Given the description of an element on the screen output the (x, y) to click on. 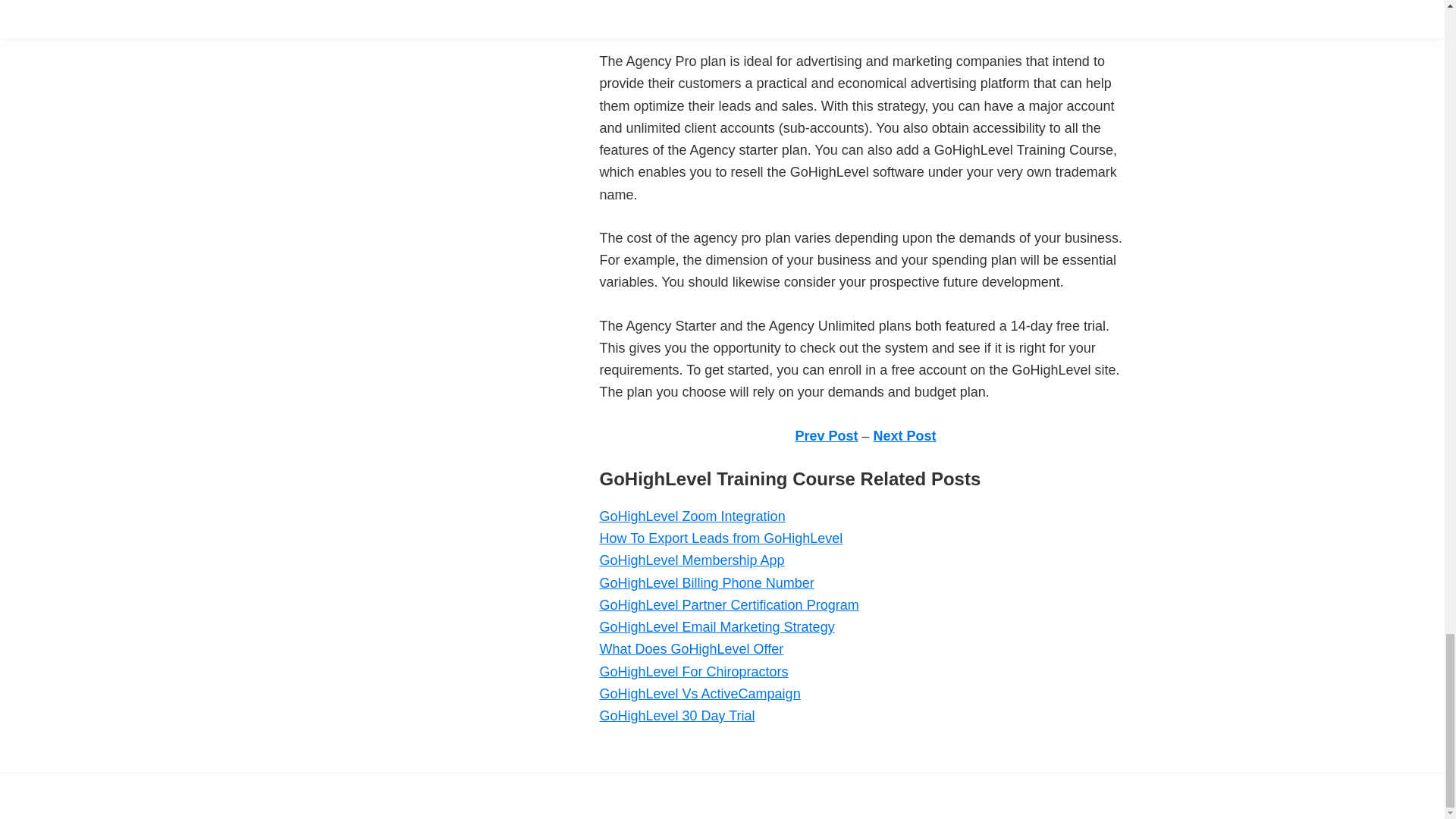
GoHighLevel Partner Certification Program (728, 604)
Next Post (904, 435)
GoHighLevel Vs ActiveCampaign (698, 693)
GoHighLevel 30 Day Trial (676, 715)
GoHighLevel For Chiropractors (692, 670)
GoHighLevel Zoom Integration (691, 516)
GoHighLevel 30 Day Trial (676, 715)
How To Export Leads from GoHighLevel (720, 538)
GoHighLevel Email Marketing Strategy (716, 626)
How To Export Leads from GoHighLevel (720, 538)
GoHighLevel Membership App (691, 560)
What Does GoHighLevel Offer (690, 648)
GoHighLevel Billing Phone Number (705, 582)
GoHighLevel For Chiropractors (692, 670)
Prev Post (825, 435)
